Given the description of an element on the screen output the (x, y) to click on. 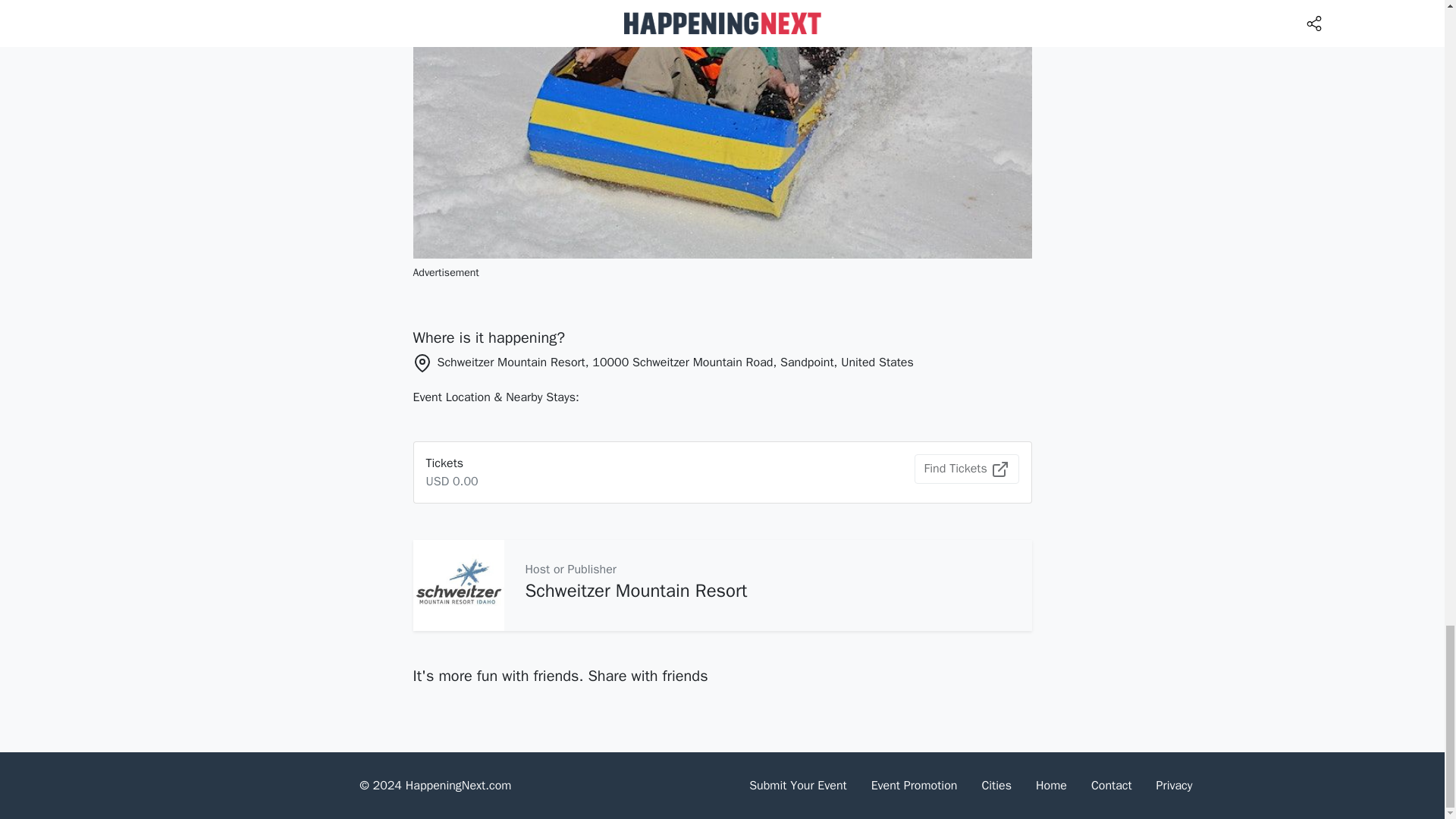
Select Your City (996, 785)
Submit Your Event (797, 785)
Submit Your Event (797, 785)
Event Promotion (914, 785)
Home (1050, 785)
Privacy Policy (1174, 785)
Cities (996, 785)
Contact (1111, 785)
Find Tickets (966, 469)
Privacy (1174, 785)
